Given the description of an element on the screen output the (x, y) to click on. 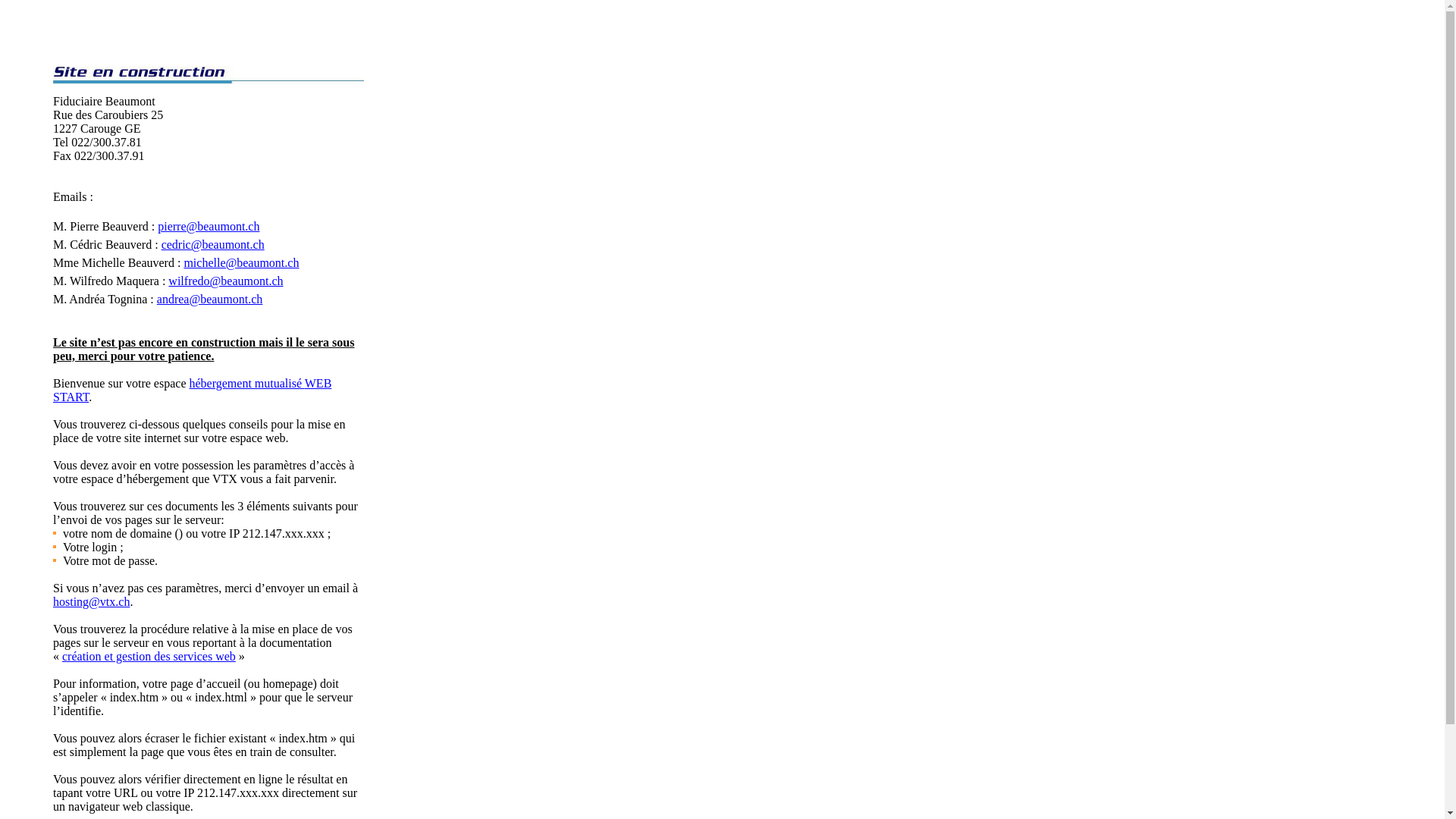
michelle@beaumont.ch Element type: text (240, 262)
hosting@vtx.ch Element type: text (91, 601)
wilfredo@beaumont.ch Element type: text (225, 280)
pierre@beaumont.ch Element type: text (208, 225)
andrea@beaumont.ch Element type: text (209, 298)
cedric@beaumont.ch Element type: text (212, 244)
WEB START Element type: text (192, 389)
